Given the description of an element on the screen output the (x, y) to click on. 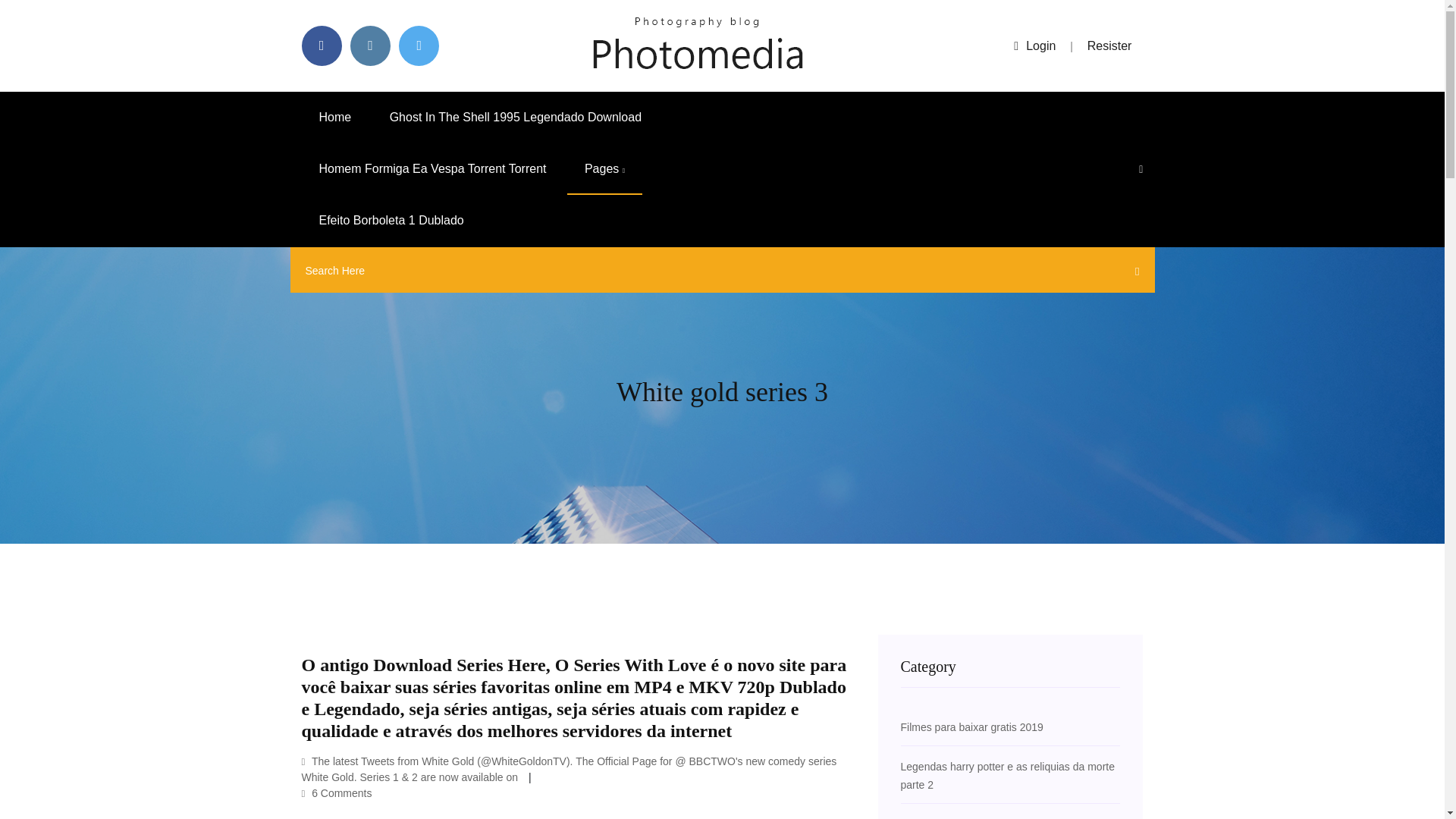
Login (1034, 45)
Home (335, 117)
Homem Formiga Ea Vespa Torrent Torrent (432, 168)
6 Comments (336, 793)
Resister (1109, 45)
Pages (604, 168)
Efeito Borboleta 1 Dublado (391, 220)
Ghost In The Shell 1995 Legendado Download (515, 117)
